Given the description of an element on the screen output the (x, y) to click on. 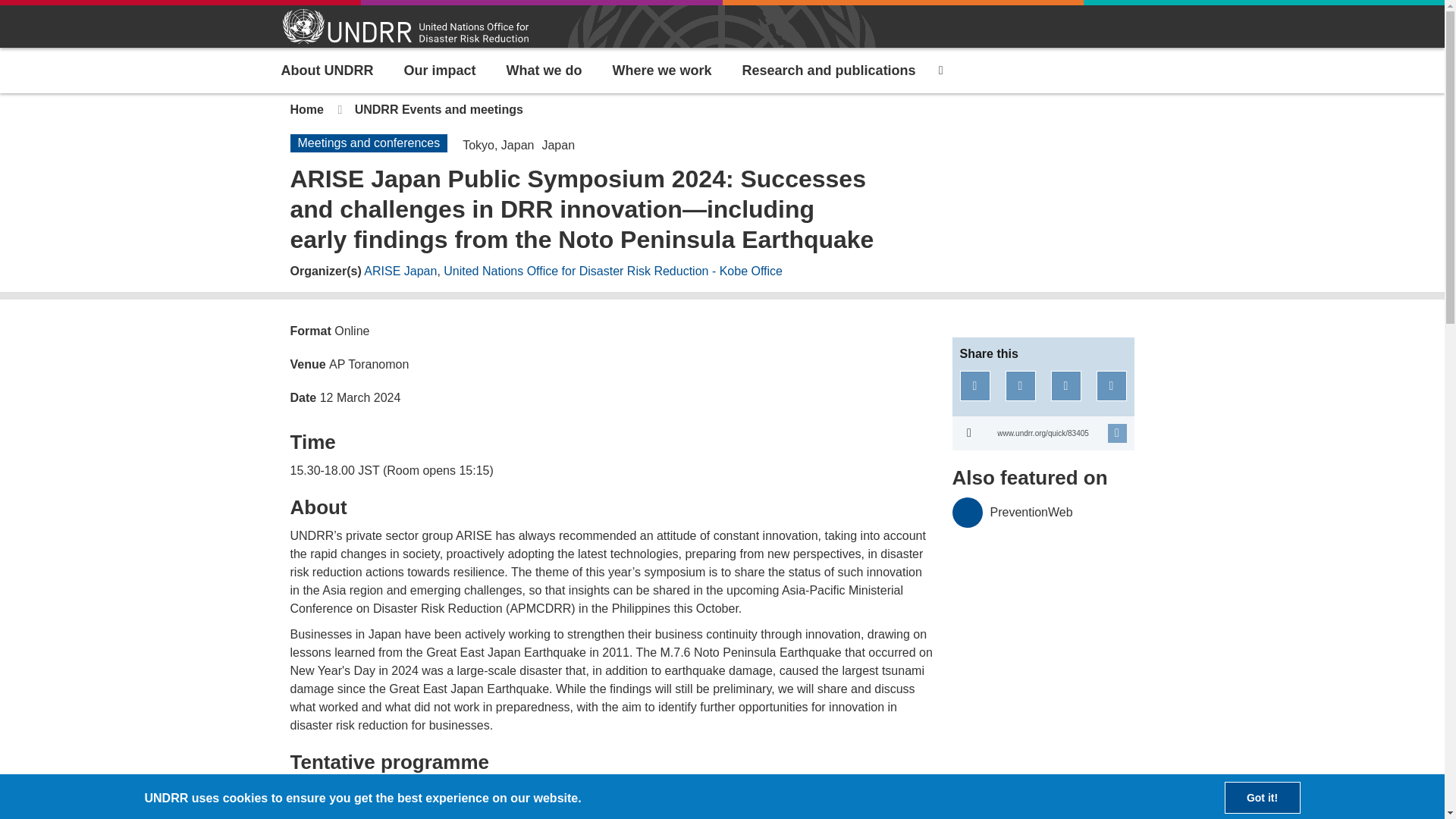
Share on LinkedIn (1066, 386)
UNDRR Logo (404, 27)
About UNDRR (326, 70)
Share on Twitter (1020, 386)
Share via Email (1111, 386)
Copy to Clipboard (1043, 433)
Share on Facebook (974, 386)
Our impact (439, 70)
